Given the description of an element on the screen output the (x, y) to click on. 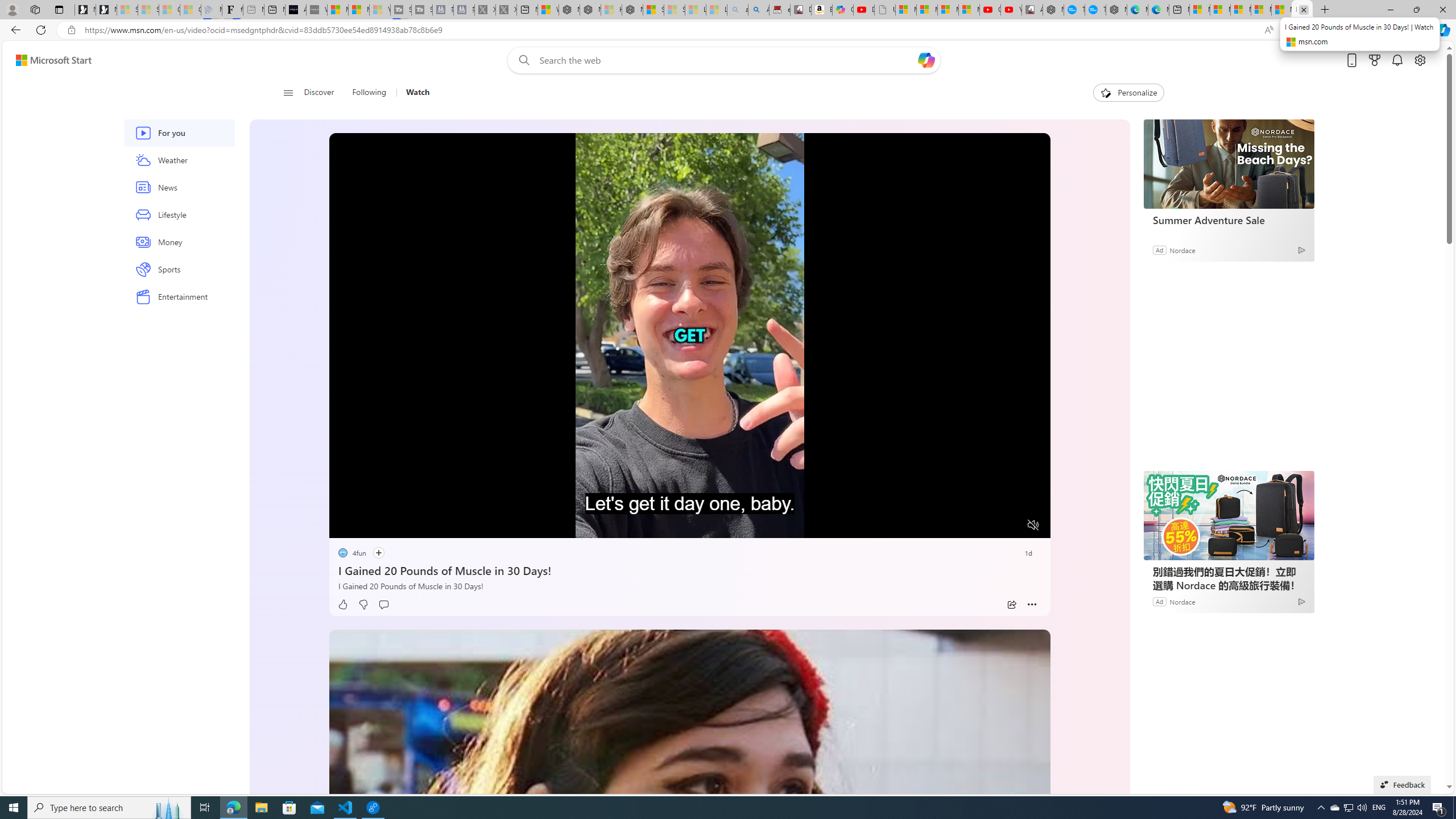
Minimize (1390, 9)
Split screen (1344, 29)
Workspaces (34, 9)
Gloom - YouTube (990, 9)
Copilot (842, 9)
Progress Bar (689, 510)
Pause (346, 525)
amazon - Search - Sleeping (737, 9)
Discover (323, 92)
Following (370, 92)
Microsoft Start (1281, 9)
Watch (417, 92)
More (1031, 604)
